Given the description of an element on the screen output the (x, y) to click on. 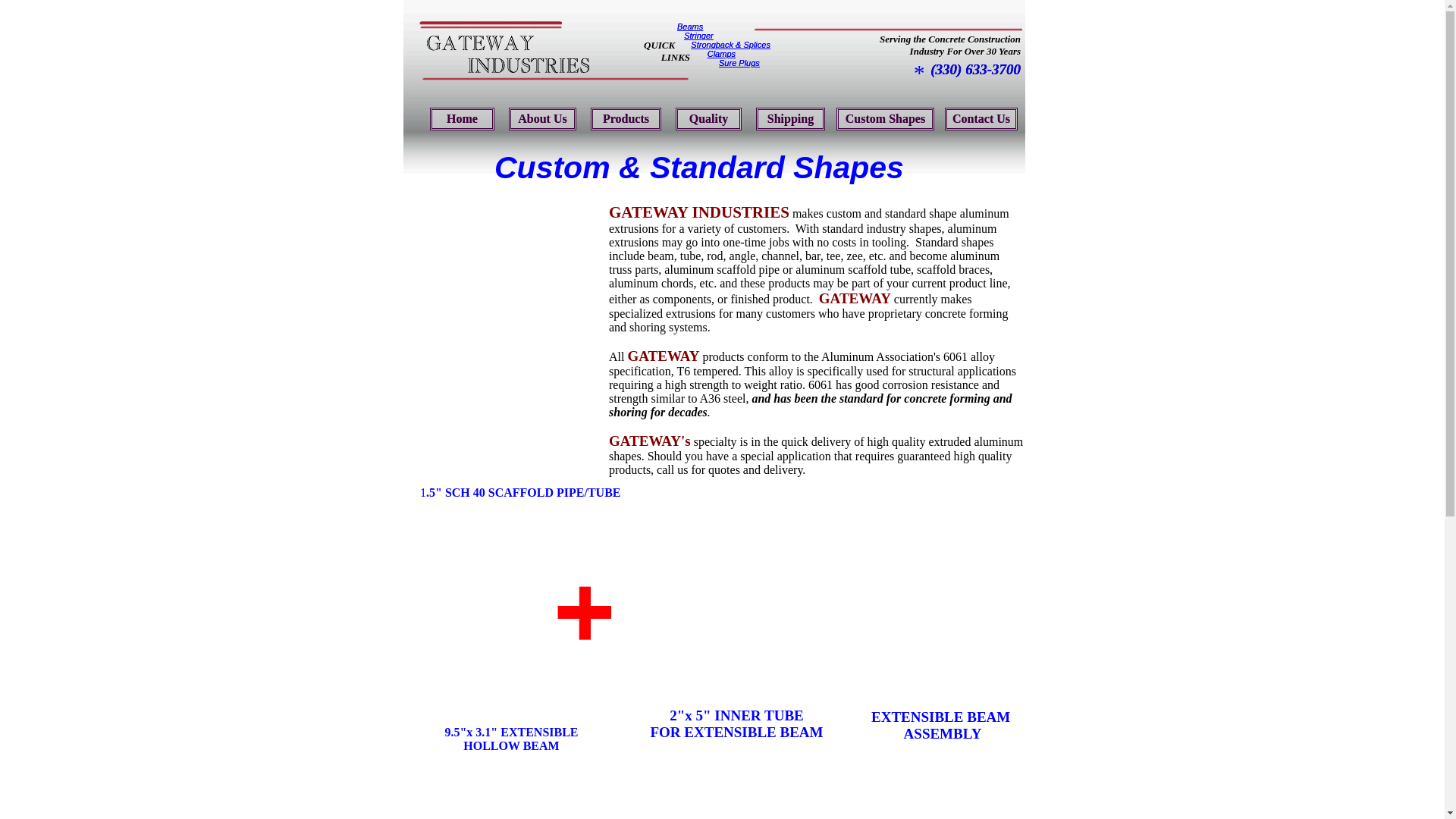
Stringer (698, 35)
Contact Us (980, 118)
Home (462, 118)
Quality (708, 118)
Contact Us (980, 118)
Custom Shapes (884, 118)
Shipping (790, 118)
About Us (542, 118)
About Us (542, 118)
Products (626, 118)
